Given the description of an element on the screen output the (x, y) to click on. 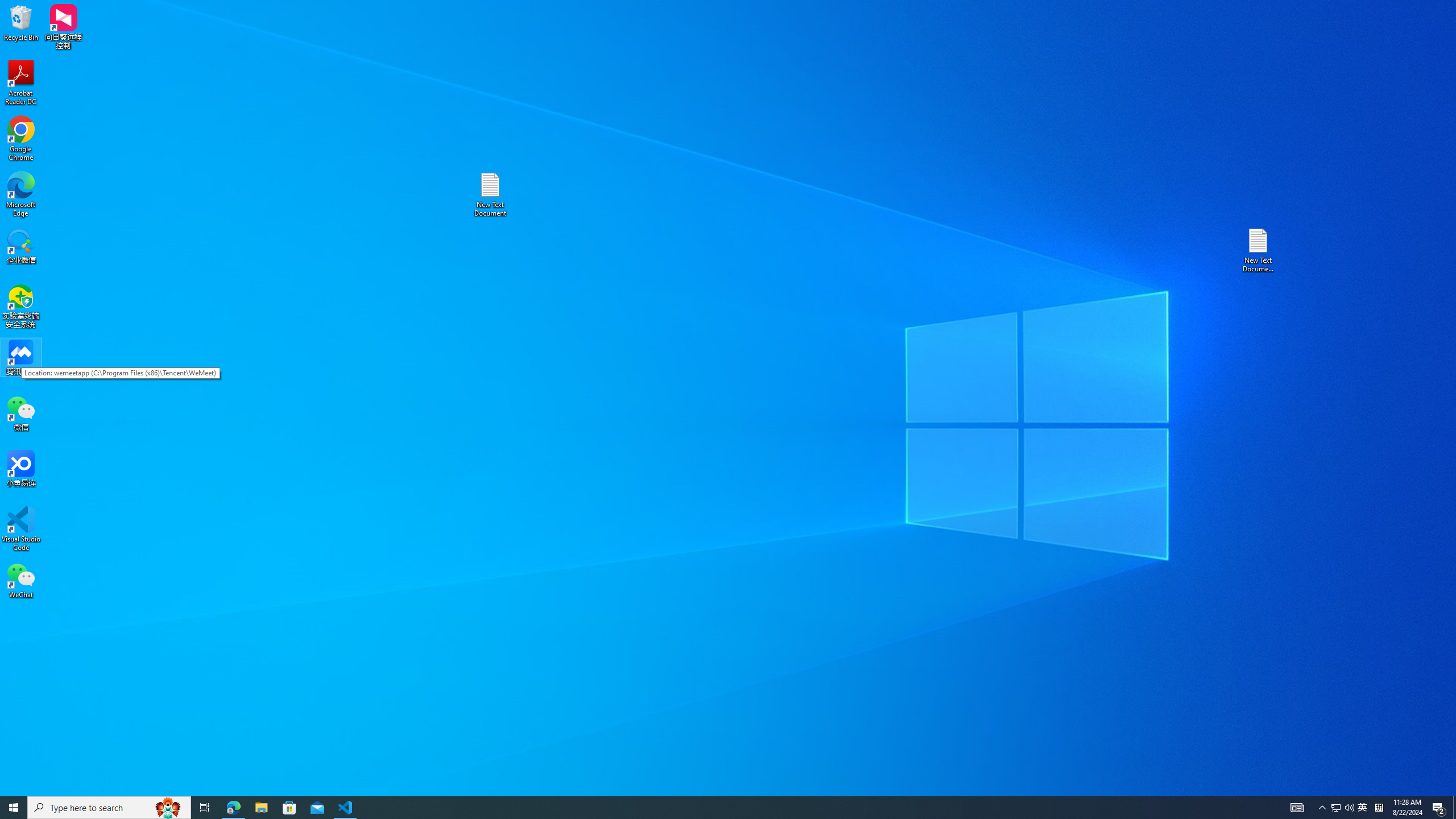
Notification Chevron (1322, 807)
New Text Document (489, 194)
Microsoft Store (289, 807)
Recycle Bin (21, 22)
File Explorer (1335, 807)
Acrobat Reader DC (261, 807)
WeChat (21, 82)
User Promoted Notification Area (21, 580)
Task View (1362, 807)
Microsoft Edge - 1 running window (1342, 807)
Tray Input Indicator - Chinese (Simplified, China) (204, 807)
